Given the description of an element on the screen output the (x, y) to click on. 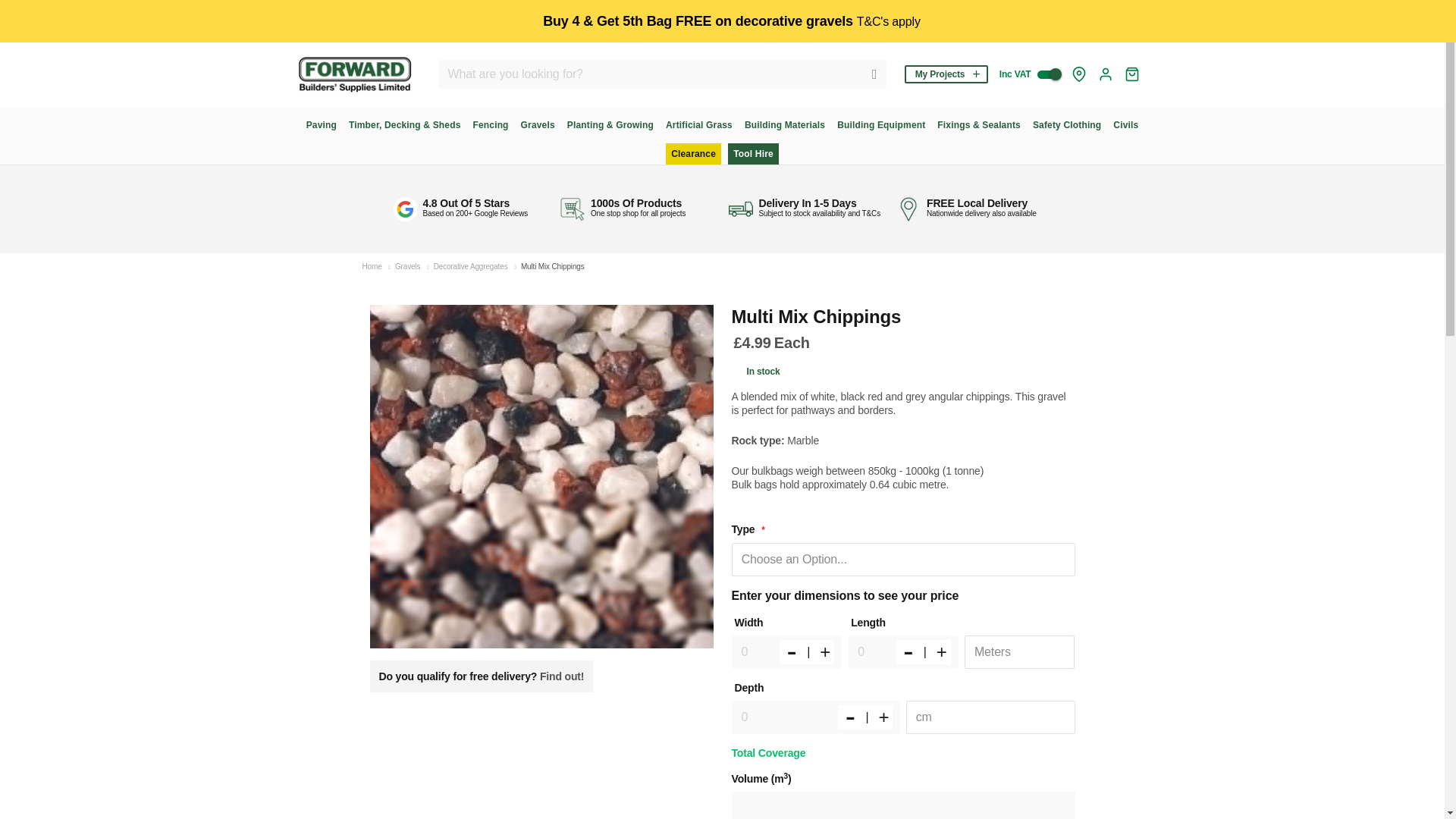
Fencing (489, 125)
Go to Home Page (371, 266)
Sign In (1105, 73)
Availability (755, 371)
Decorative Aggregates (470, 266)
Gravels (407, 266)
My Cart (1131, 73)
Switch VAT (1047, 74)
Log Out (1105, 73)
Forward Builders Supplies (353, 74)
Check Delivery Costs (1078, 73)
My Projects (946, 74)
Paving (320, 125)
My Projects (946, 74)
Tool Hire (753, 153)
